Given the description of an element on the screen output the (x, y) to click on. 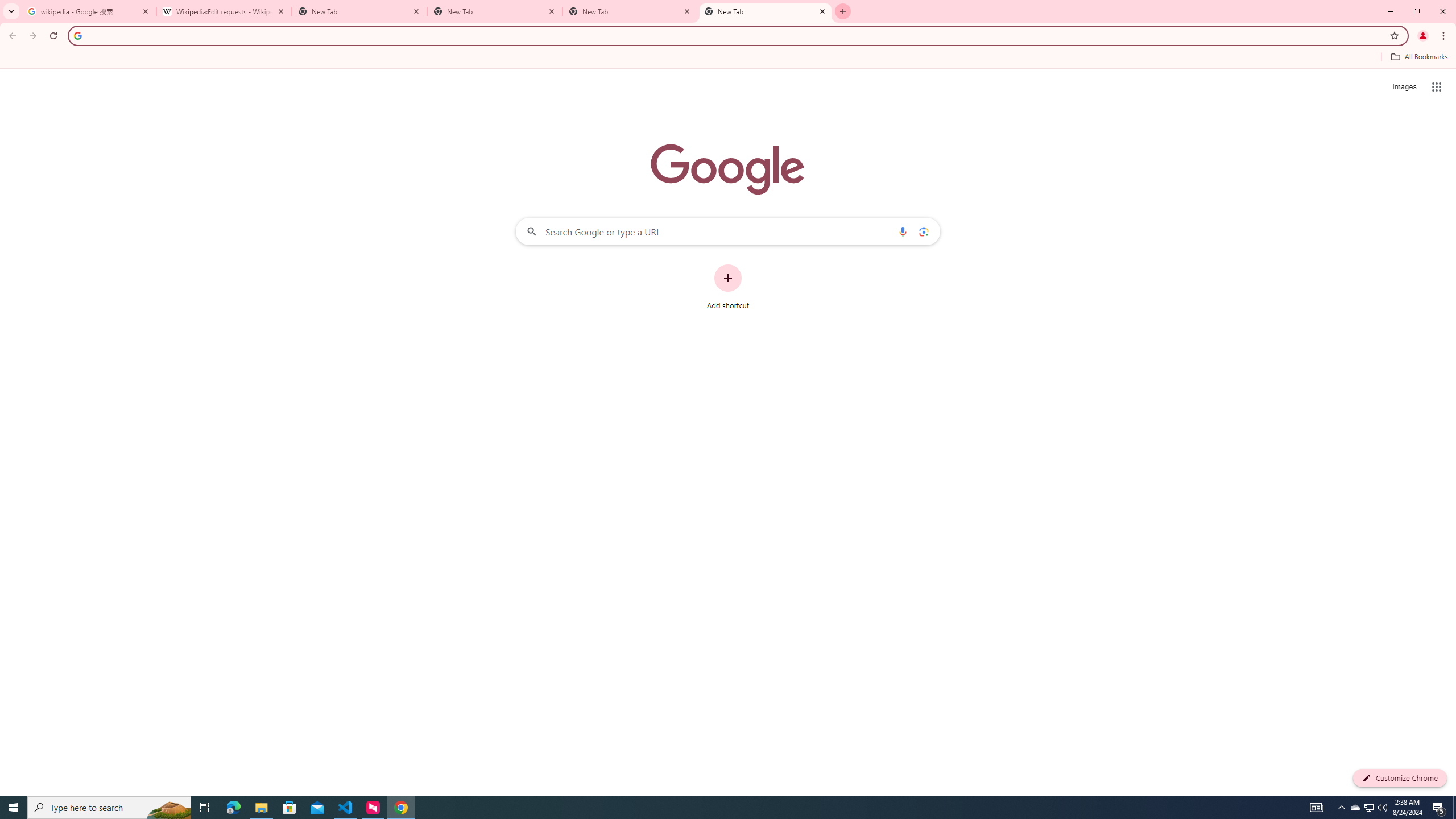
Search Google or type a URL (727, 230)
Search tabs (10, 11)
New Tab (359, 11)
Restore (1416, 11)
Address and search bar (735, 35)
New Tab (494, 11)
Wikipedia:Edit requests - Wikipedia (224, 11)
Search by image (922, 230)
System (6, 6)
Back (10, 35)
Search by voice (902, 230)
New Tab (765, 11)
System (6, 6)
Chrome (1445, 35)
